Given the description of an element on the screen output the (x, y) to click on. 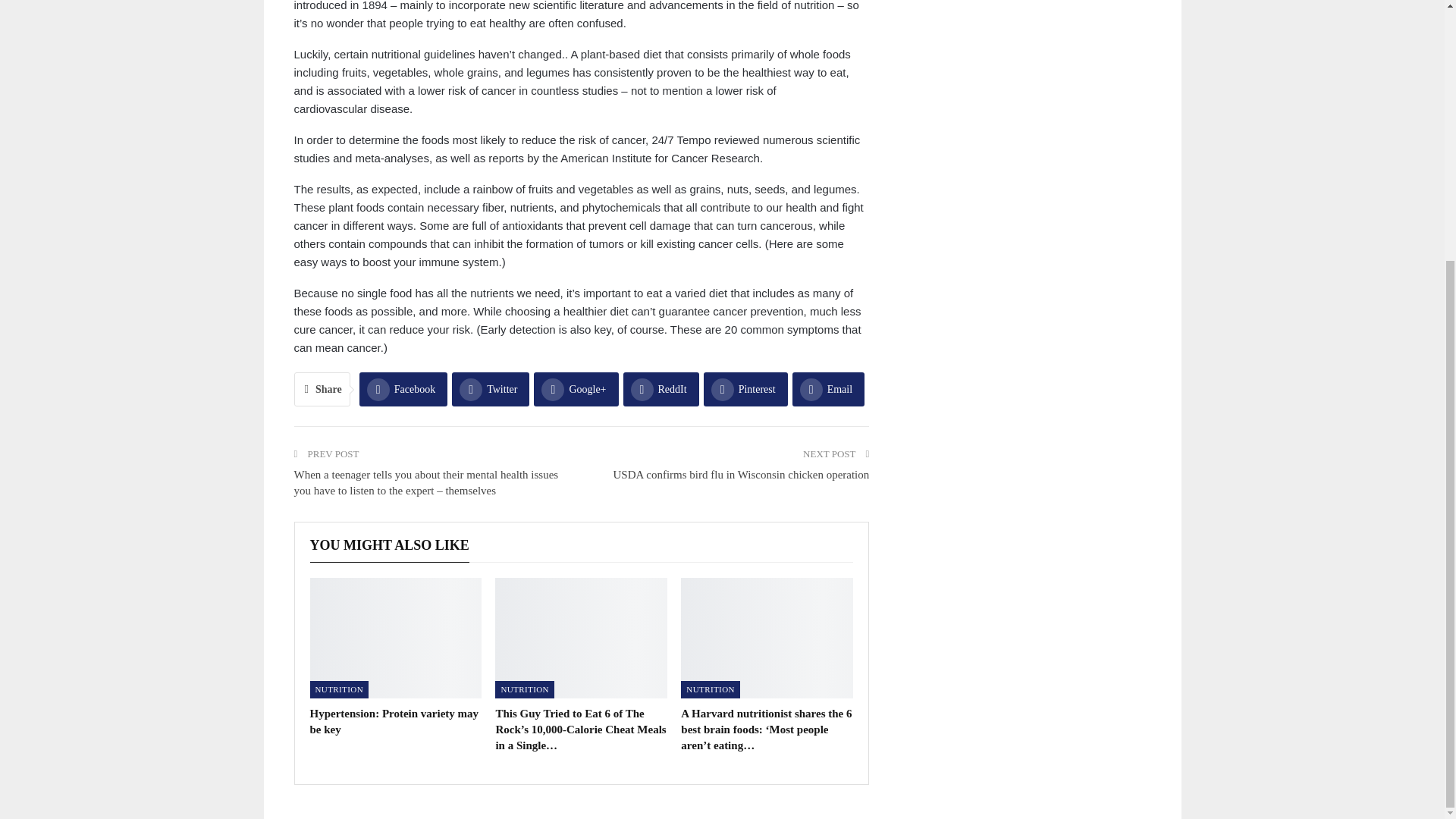
Twitter (490, 389)
YOU MIGHT ALSO LIKE (388, 545)
Pinterest (745, 389)
USDA confirms bird flu in Wisconsin chicken operation (740, 474)
Facebook (402, 389)
ReddIt (660, 389)
NUTRITION (338, 689)
NUTRITION (524, 689)
Hypertension: Protein variety may be key (393, 721)
Hypertension: Protein variety may be key (394, 638)
Email (828, 389)
Hypertension: Protein variety may be key (393, 721)
